Given the description of an element on the screen output the (x, y) to click on. 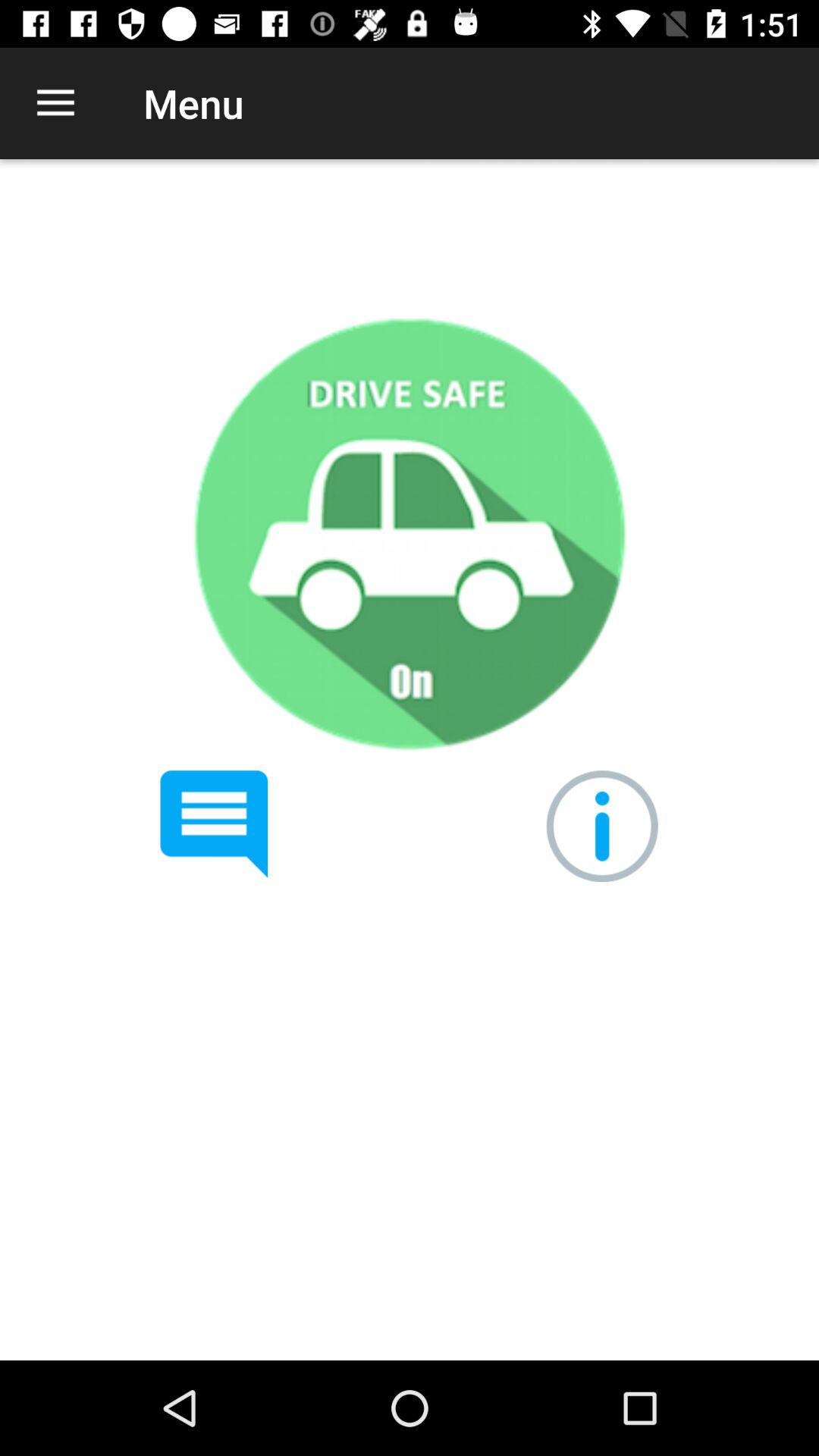
drive safe mode on (409, 533)
